Given the description of an element on the screen output the (x, y) to click on. 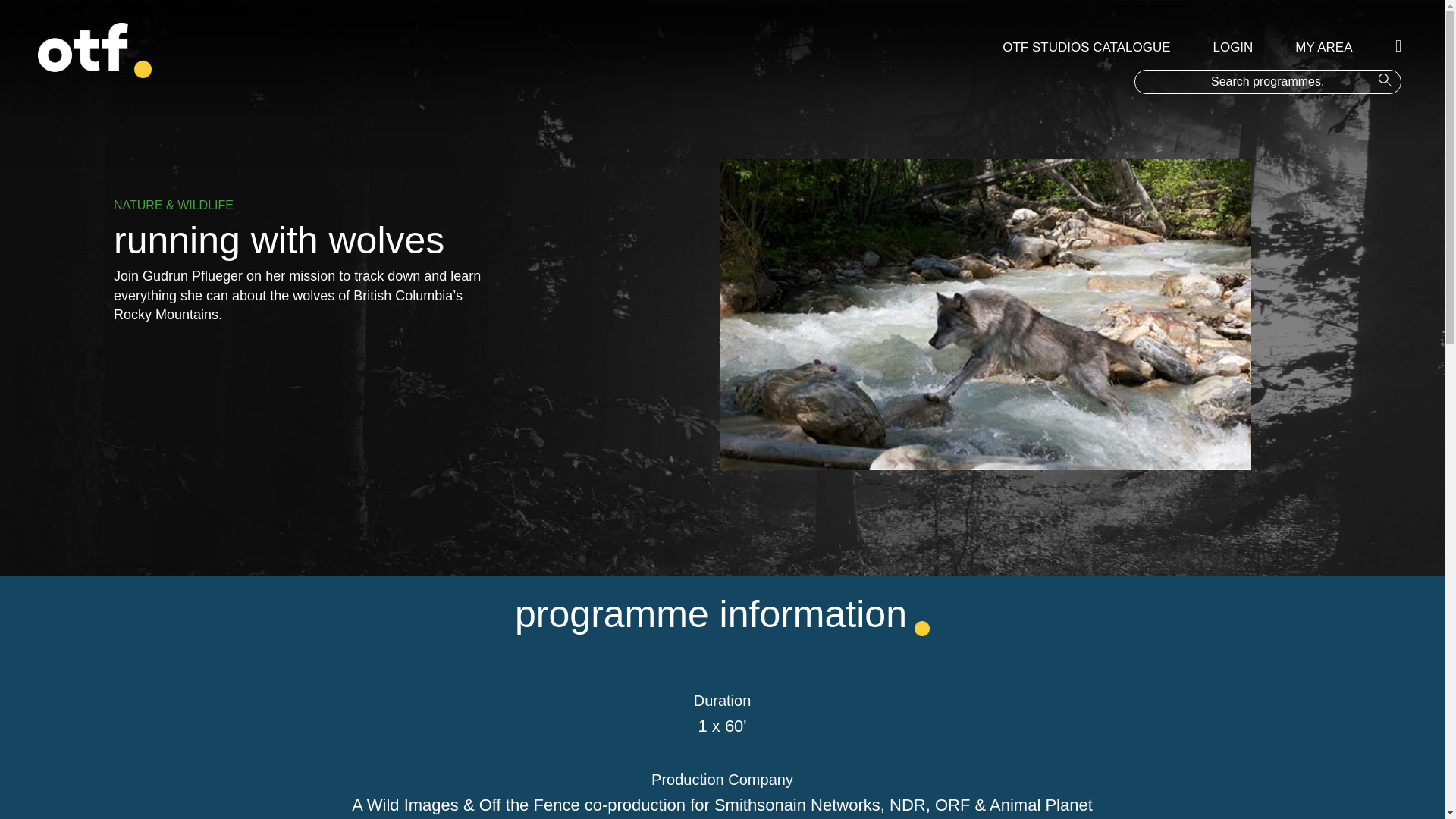
OTF STUDIOS CATALOGUE (1086, 47)
  LOGIN   (1232, 47)
MY AREA (1323, 47)
